Given the description of an element on the screen output the (x, y) to click on. 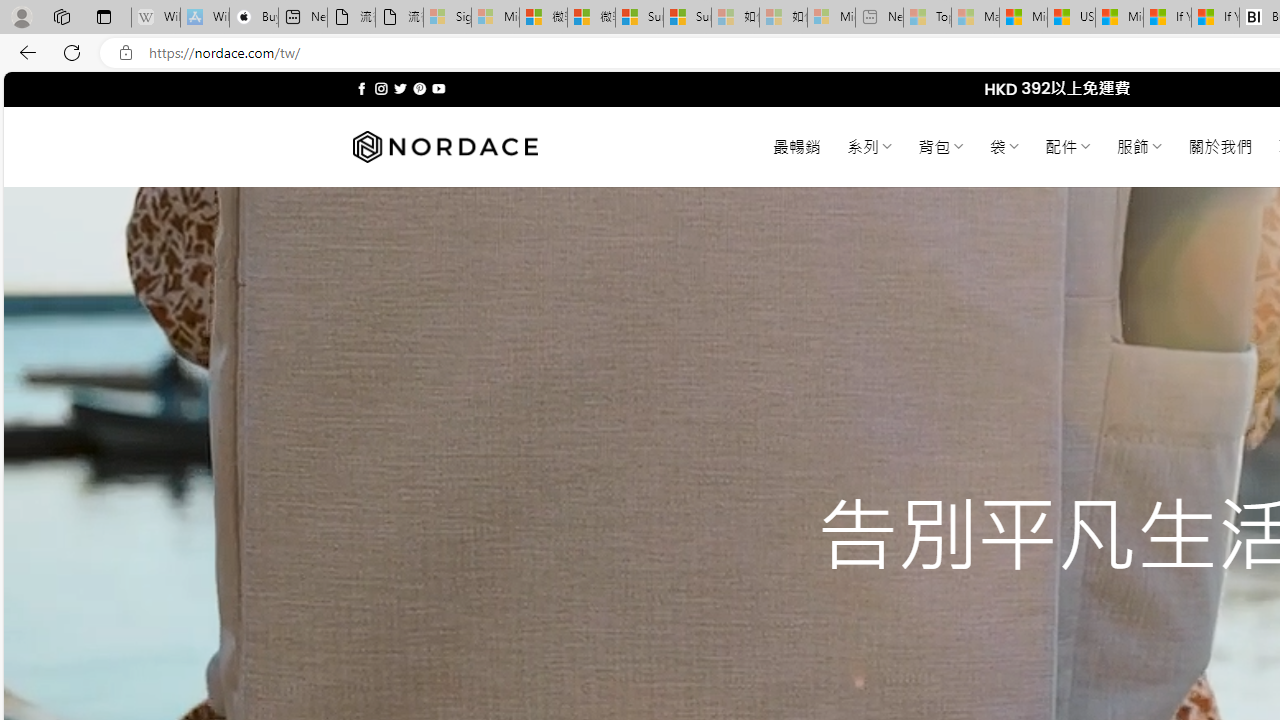
Follow on Pinterest (419, 88)
Top Stories - MSN - Sleeping (927, 17)
